Given the description of an element on the screen output the (x, y) to click on. 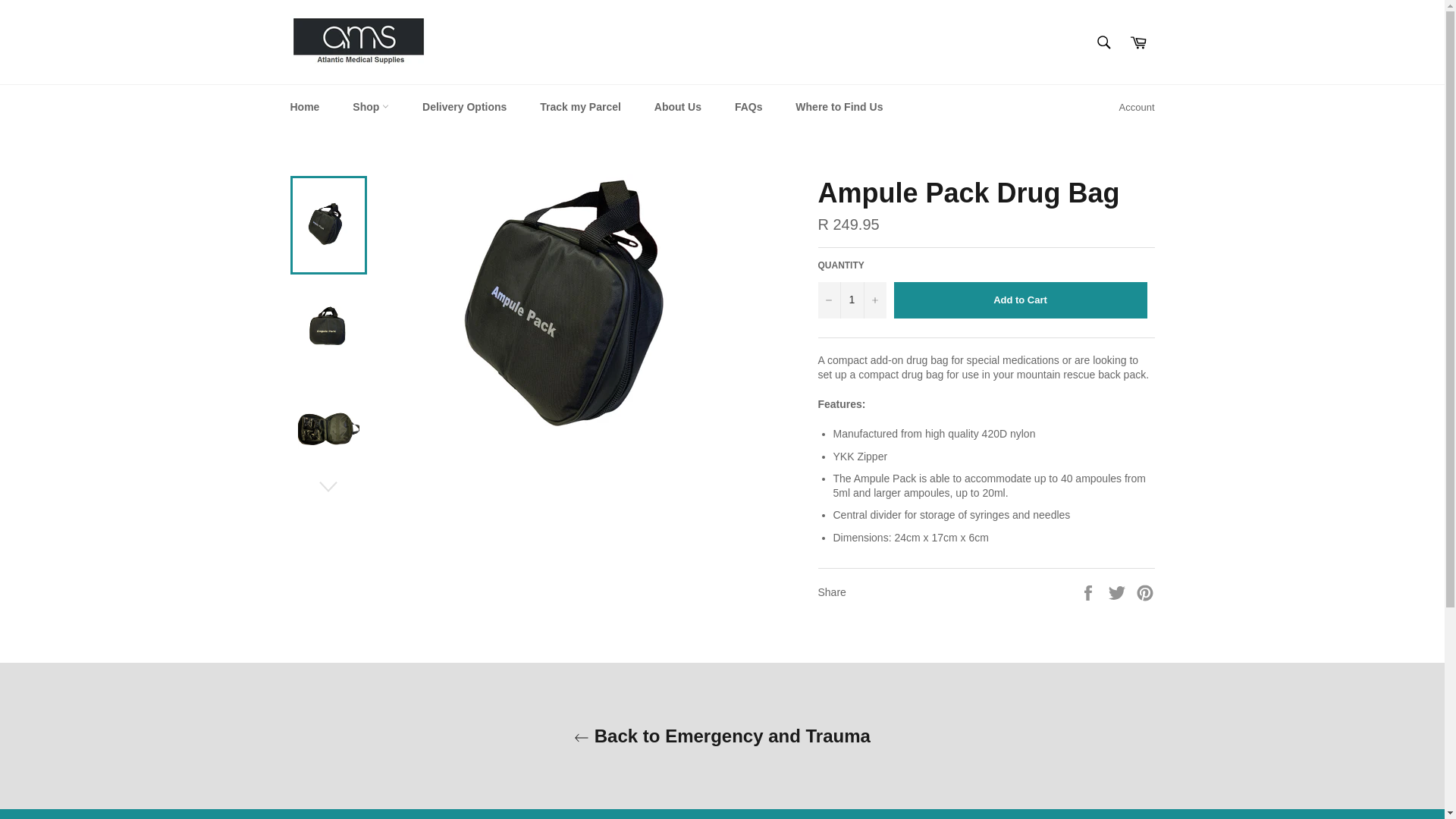
1 (850, 299)
Tweet on Twitter (1118, 592)
Pin on Pinterest (1144, 592)
Share on Facebook (1089, 592)
